Given the description of an element on the screen output the (x, y) to click on. 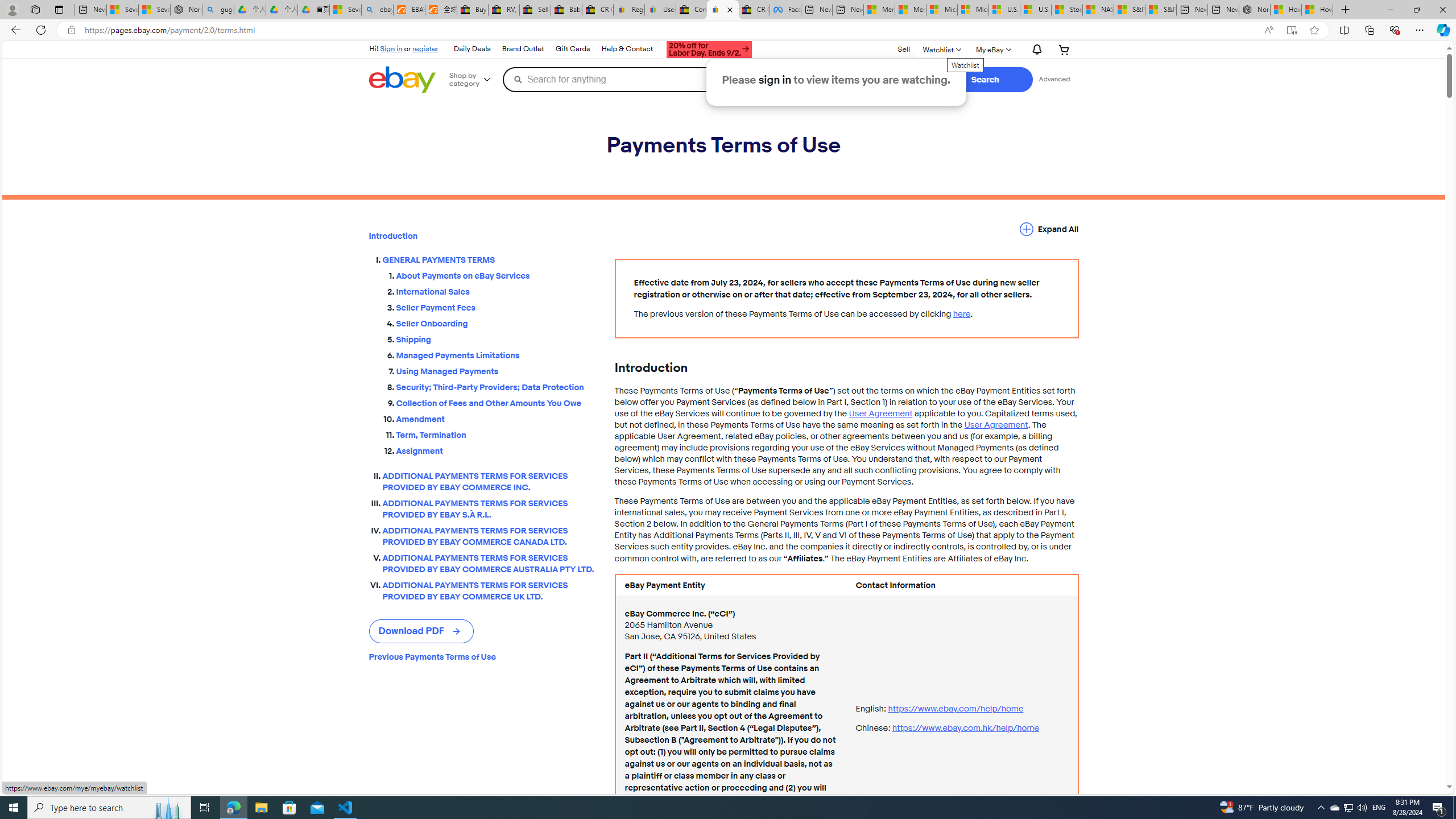
Get the coupon now (709, 50)
User Privacy Notice | eBay (660, 9)
Brand Outlet (523, 49)
My eBay (992, 49)
Notifications (1034, 49)
About Payments on eBay Services (496, 273)
Payments Terms of Use | eBay.com (722, 9)
ebay - Search (376, 9)
User Agreement (995, 424)
